Given the description of an element on the screen output the (x, y) to click on. 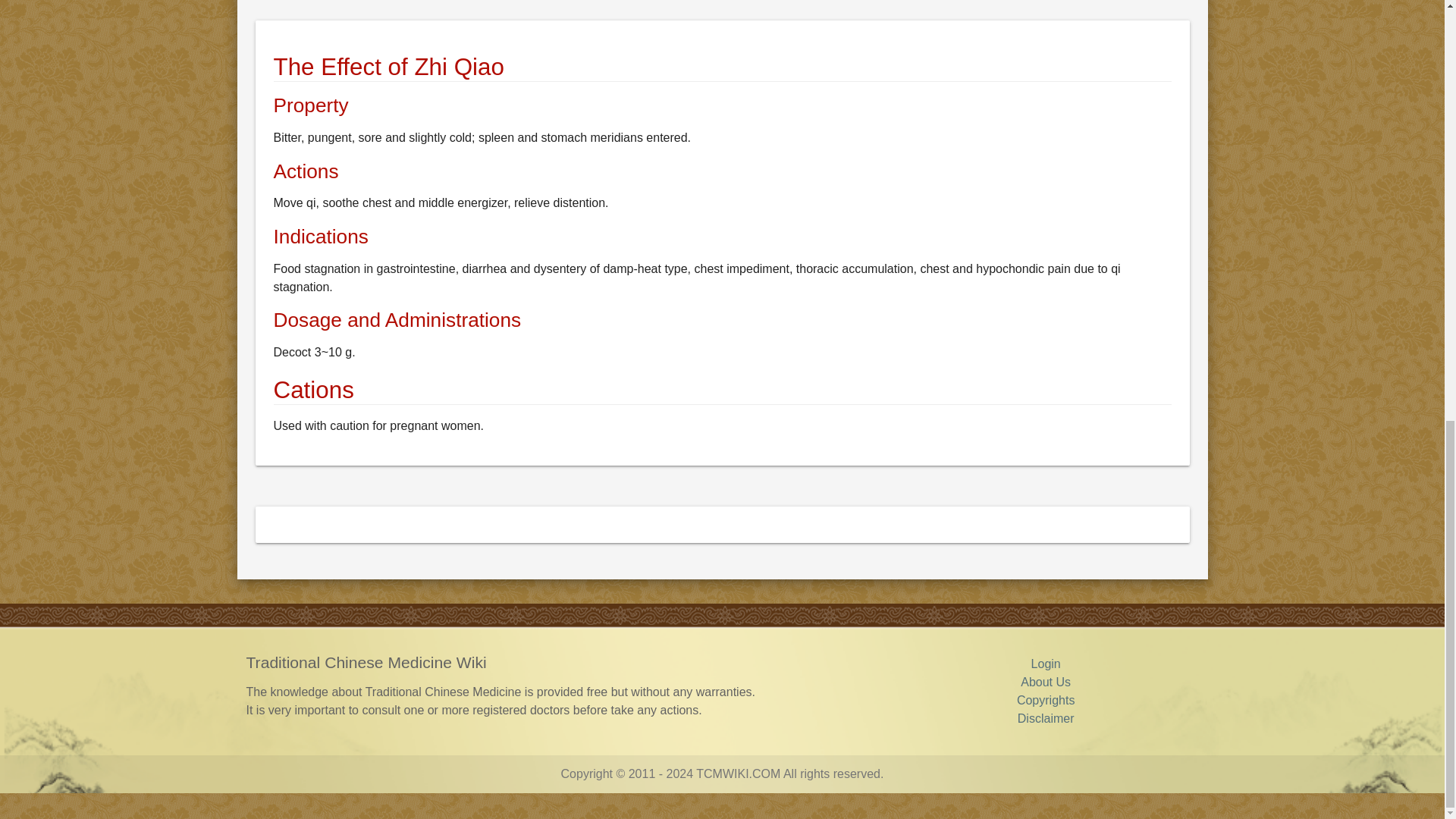
Advertisement (709, 7)
Login (1045, 663)
Disclaimer (1045, 717)
About Us (1045, 681)
Copyrights (1045, 699)
